Given the description of an element on the screen output the (x, y) to click on. 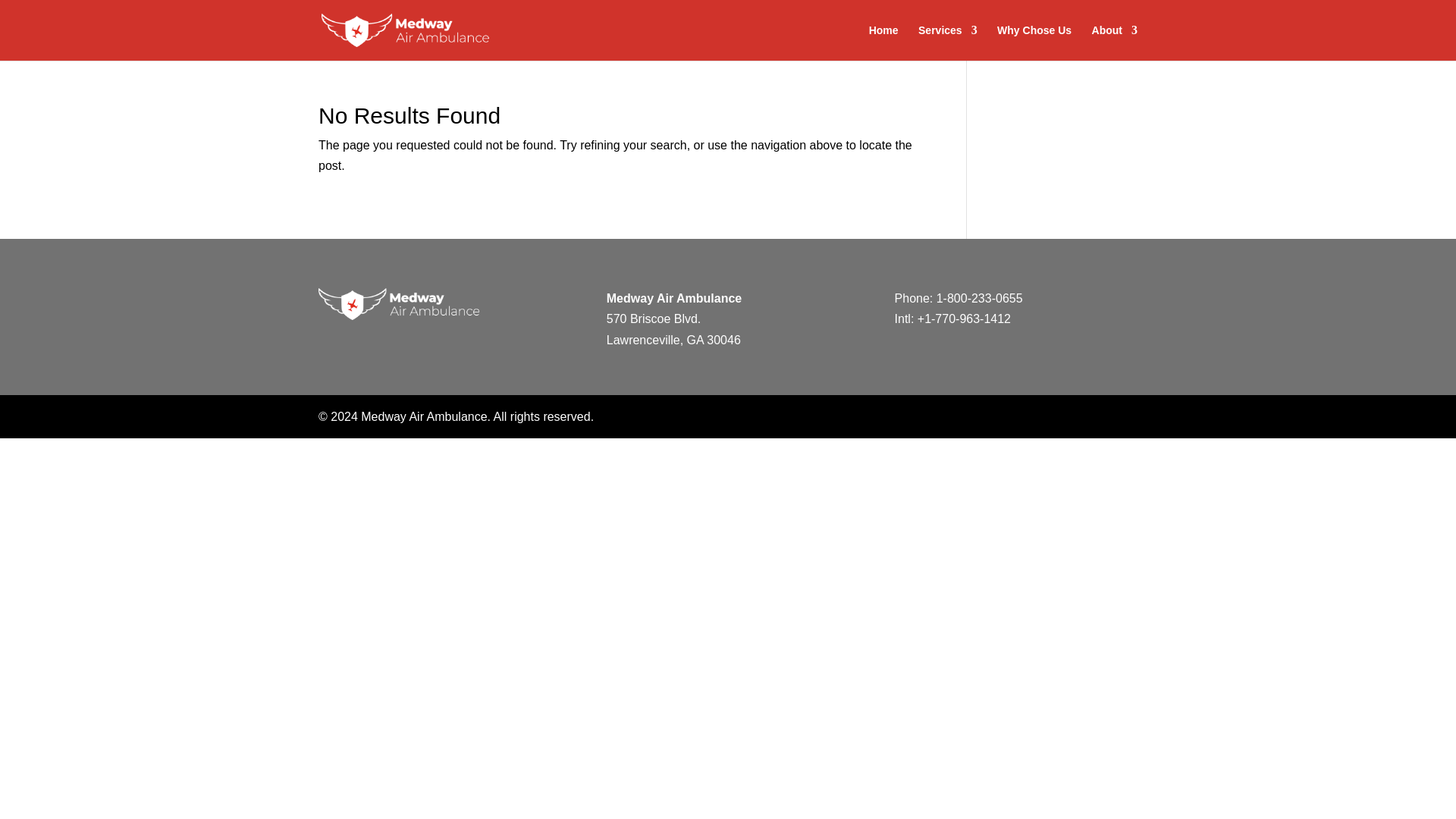
Services (947, 42)
1-800-233-0655 (979, 297)
Home (883, 42)
Why Chose Us (1034, 42)
About (1114, 42)
